Given the description of an element on the screen output the (x, y) to click on. 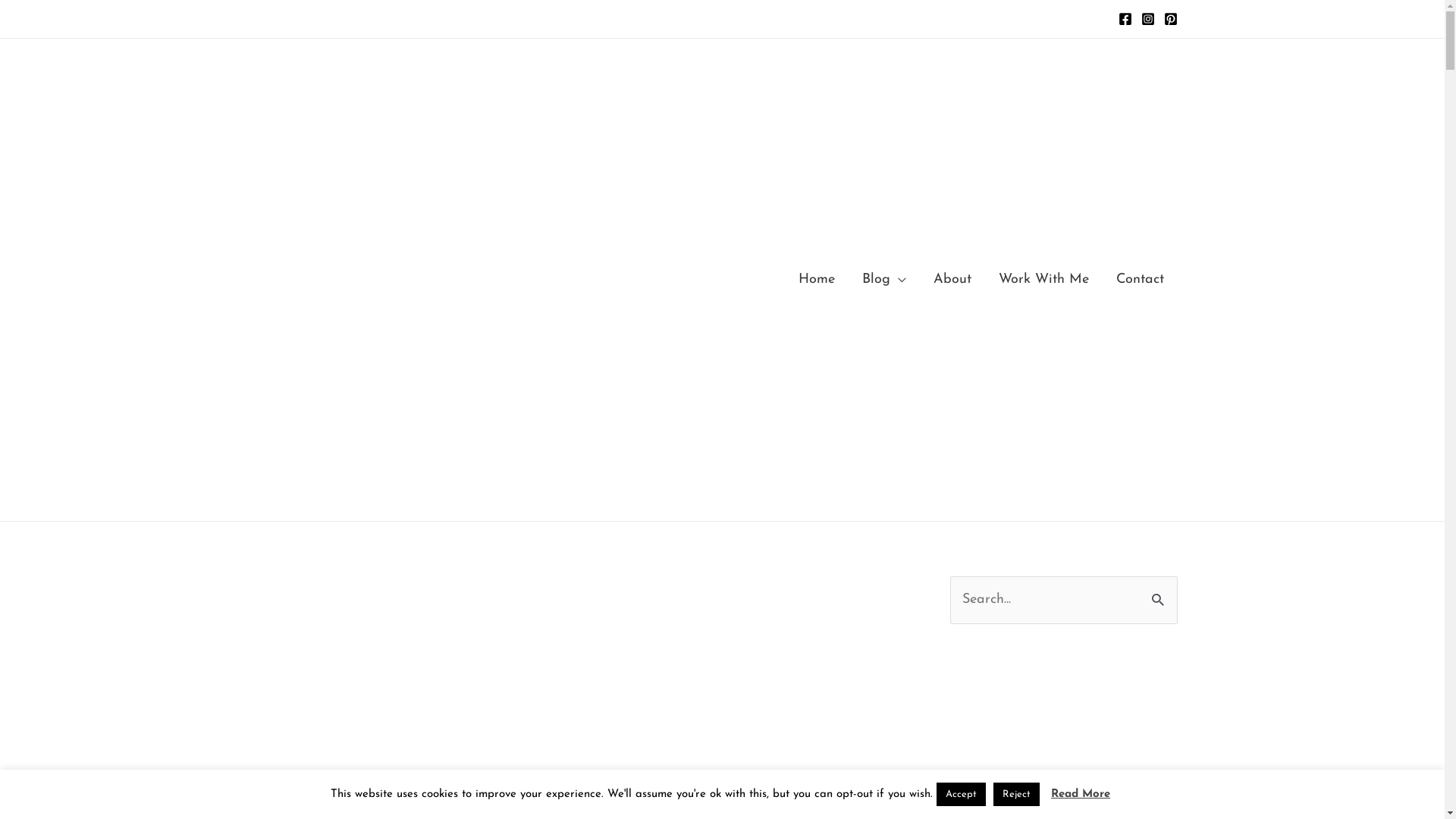
Search Element type: text (1160, 592)
Read More Element type: text (1080, 794)
Contact Element type: text (1139, 279)
Reject Element type: text (1016, 794)
Blog Element type: text (883, 279)
About Element type: text (951, 279)
Accept Element type: text (960, 794)
Home Element type: text (815, 279)
Work With Me Element type: text (1042, 279)
